Given the description of an element on the screen output the (x, y) to click on. 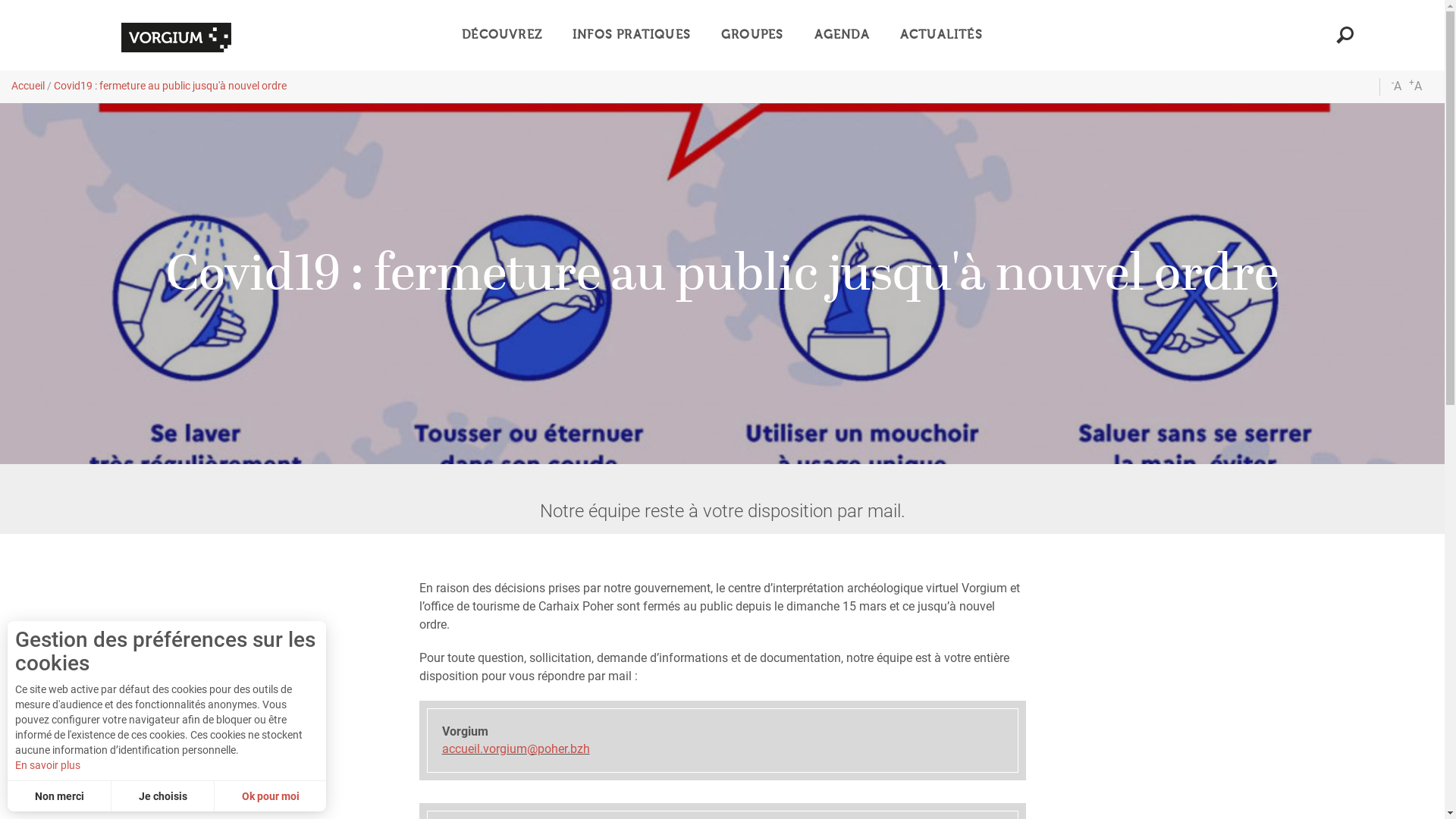
accueil.vorgium@poher.bzh Element type: text (515, 748)
INFOS PRATIQUES Element type: text (631, 34)
-A Element type: text (1396, 86)
+A Element type: text (1415, 86)
Non merci Element type: text (59, 796)
Je choisis Element type: text (162, 796)
Accueil Element type: text (27, 85)
GROUPES Element type: text (752, 34)
En savoir plus Element type: text (166, 764)
Ok pour moi Element type: text (270, 796)
AGENDA Element type: text (841, 34)
